Given the description of an element on the screen output the (x, y) to click on. 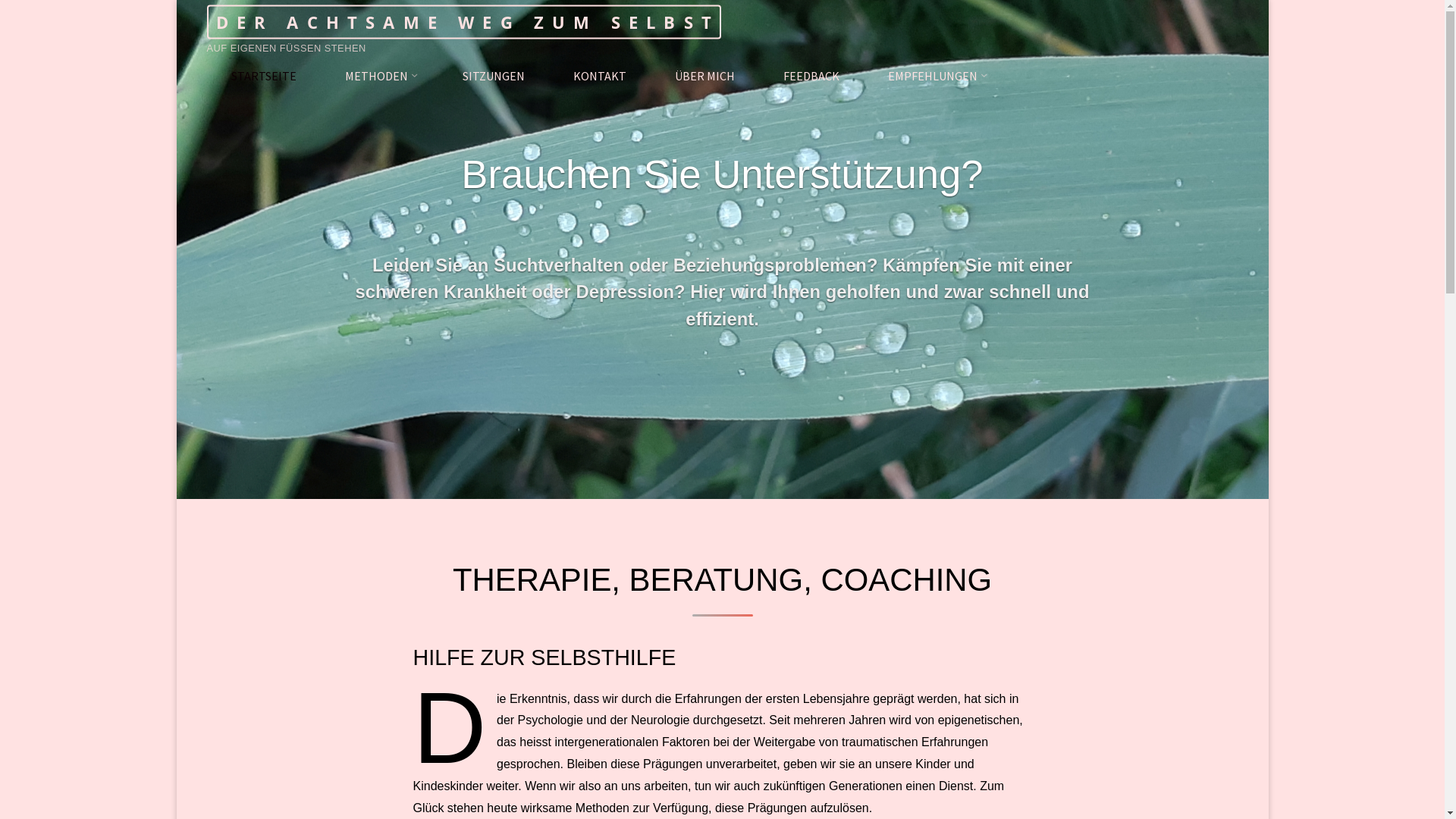
EMPFEHLUNGEN Element type: text (934, 75)
FEEDBACK Element type: text (810, 75)
KONTAKT Element type: text (599, 75)
DER ACHTSAME WEG ZUM SELBST Element type: text (463, 22)
SITZUNGEN Element type: text (493, 75)
STARTSEITE Element type: text (263, 75)
METHODEN Element type: text (378, 75)
